Given the description of an element on the screen output the (x, y) to click on. 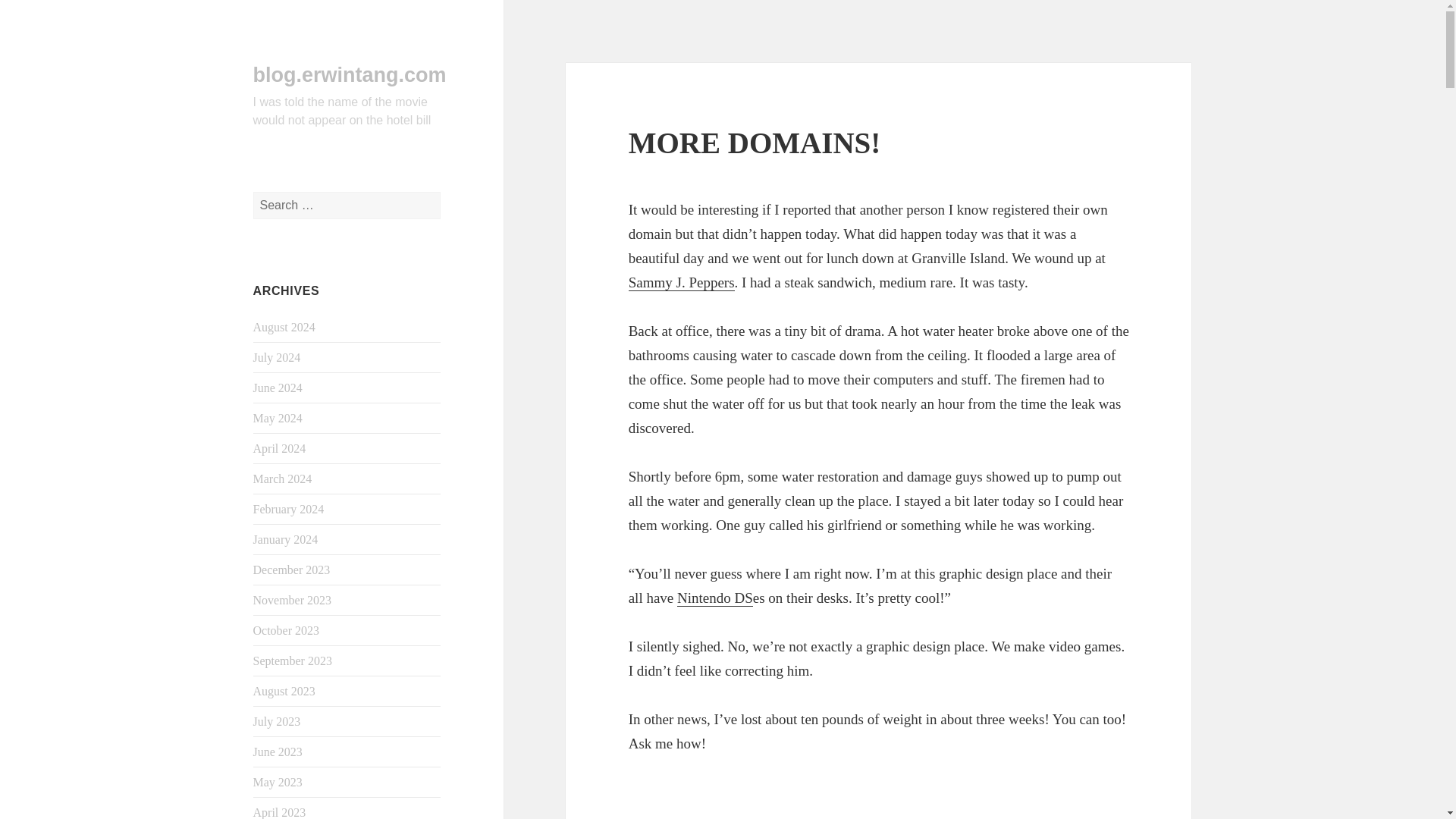
May 2024 (277, 418)
October 2023 (286, 630)
September 2023 (292, 660)
December 2023 (291, 569)
April 2023 (279, 812)
January 2024 (285, 539)
July 2024 (277, 357)
July 2023 (277, 721)
